Given the description of an element on the screen output the (x, y) to click on. 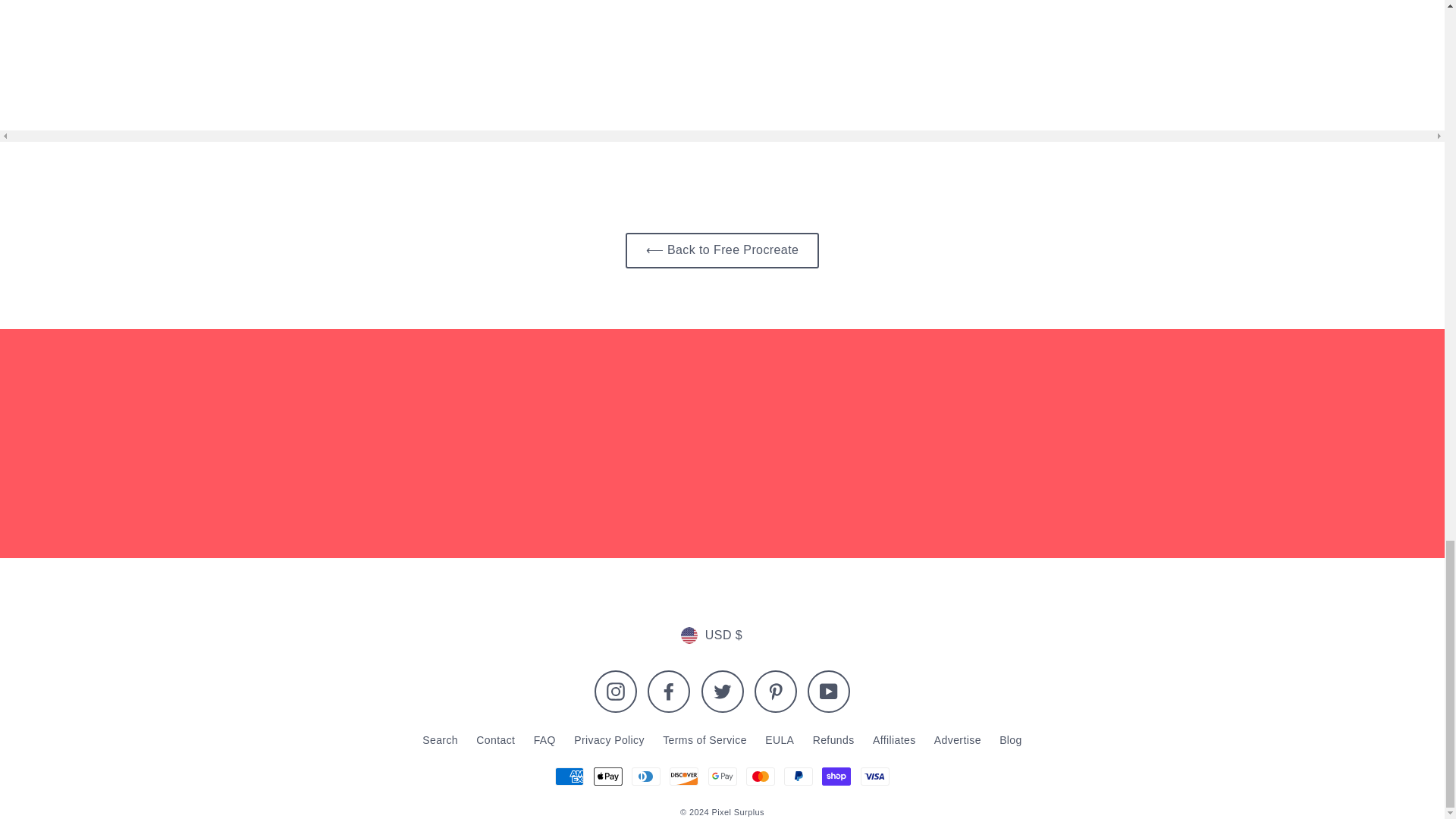
Mastercard (759, 776)
Diners Club (646, 776)
Pixel Surplus on Instagram (615, 691)
Discover (683, 776)
PayPal (798, 776)
Pixel Surplus on YouTube (829, 691)
Google Pay (721, 776)
Apple Pay (608, 776)
Shop Pay (836, 776)
American Express (568, 776)
Pixel Surplus on Pinterest (775, 691)
Pixel Surplus on Facebook (668, 691)
Pixel Surplus on Twitter (721, 691)
